Given the description of an element on the screen output the (x, y) to click on. 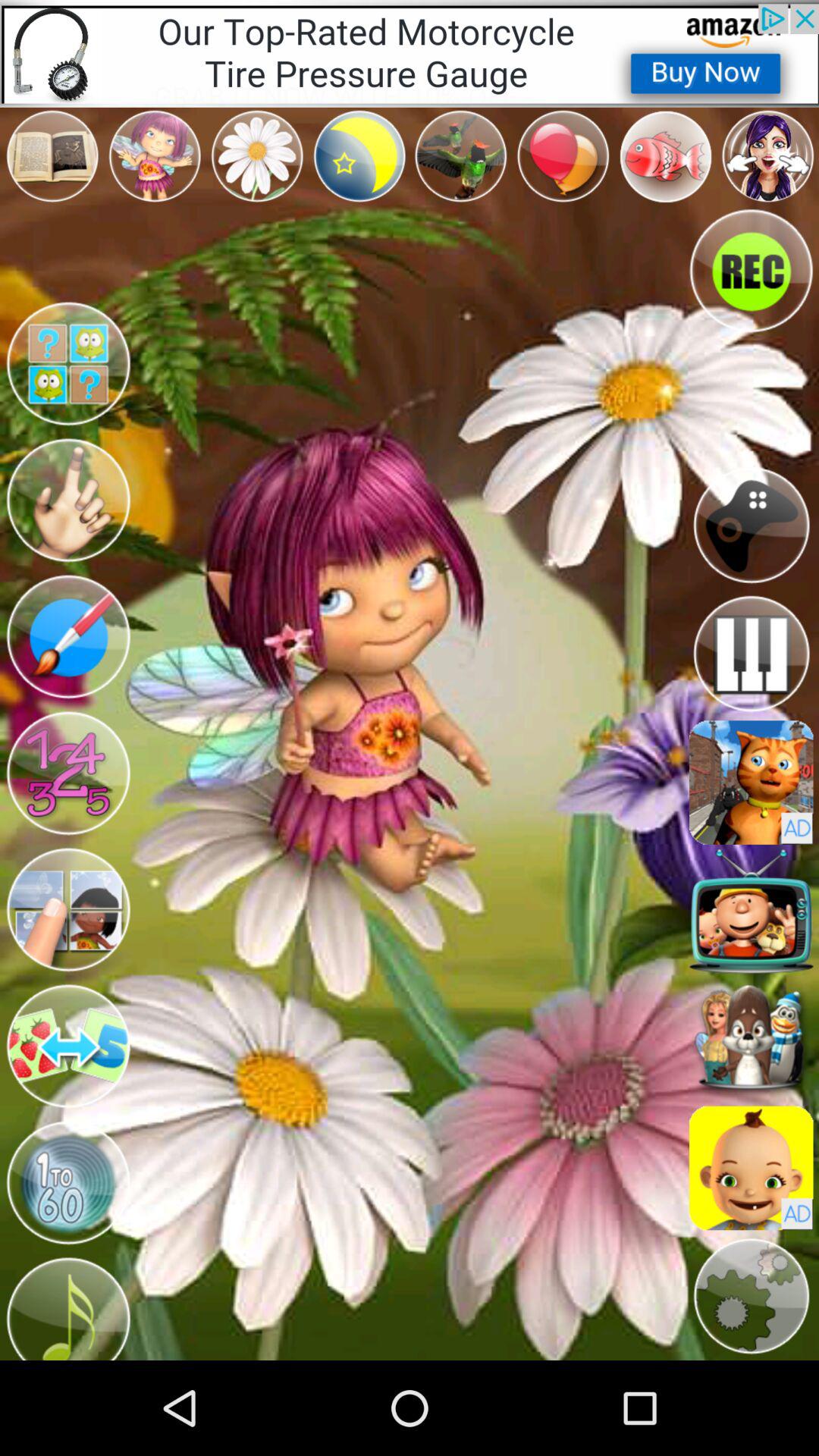
select character option (68, 500)
